Given the description of an element on the screen output the (x, y) to click on. 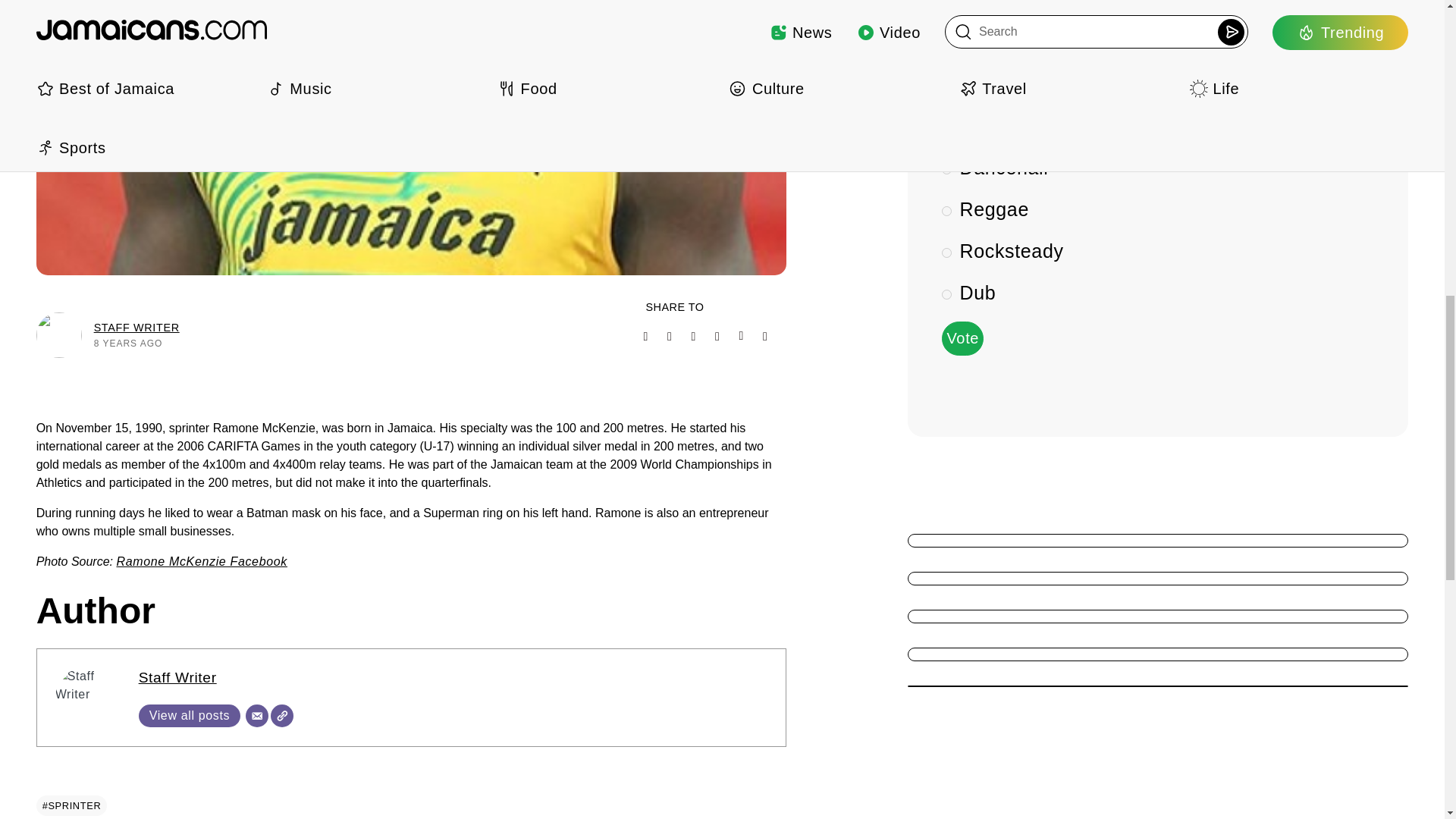
Ramone McKenzie Facebook (201, 561)
View all posts (189, 715)
STAFF WRITER (136, 327)
Staff Writer (177, 677)
